Given the description of an element on the screen output the (x, y) to click on. 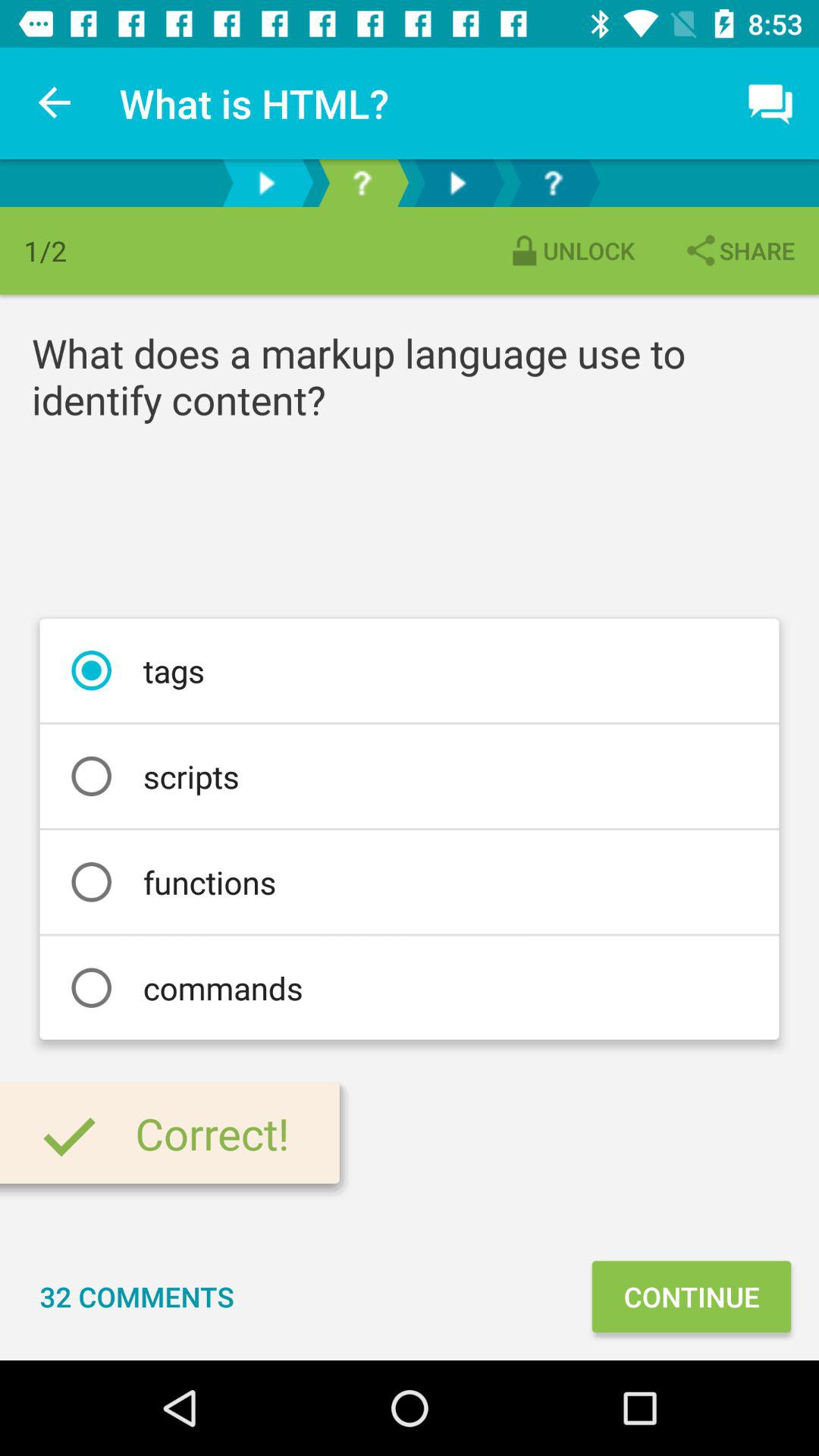
tap icon next to the continue (136, 1296)
